Given the description of an element on the screen output the (x, y) to click on. 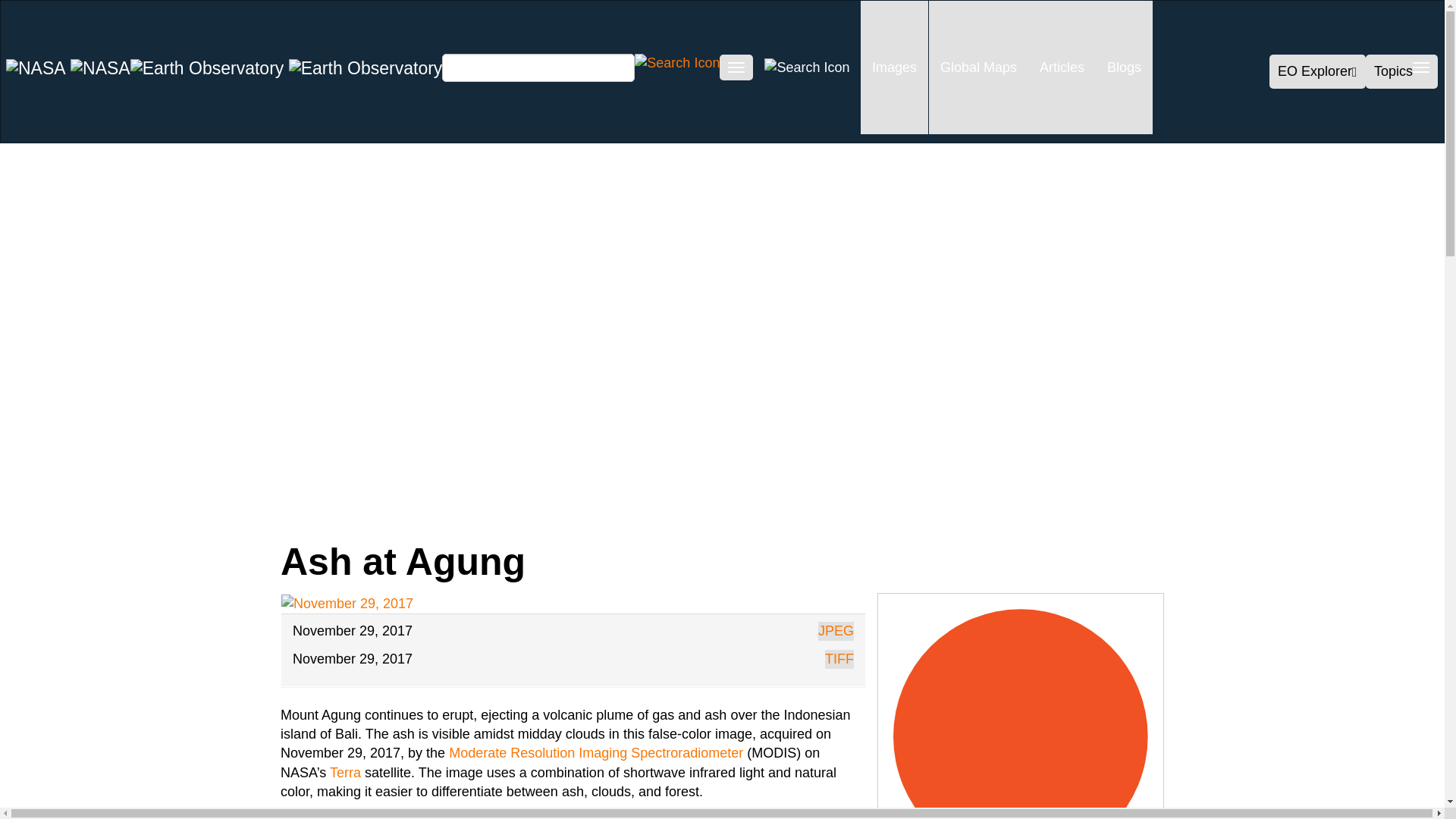
Share (161, 512)
Print (510, 512)
Search (676, 61)
